Given the description of an element on the screen output the (x, y) to click on. 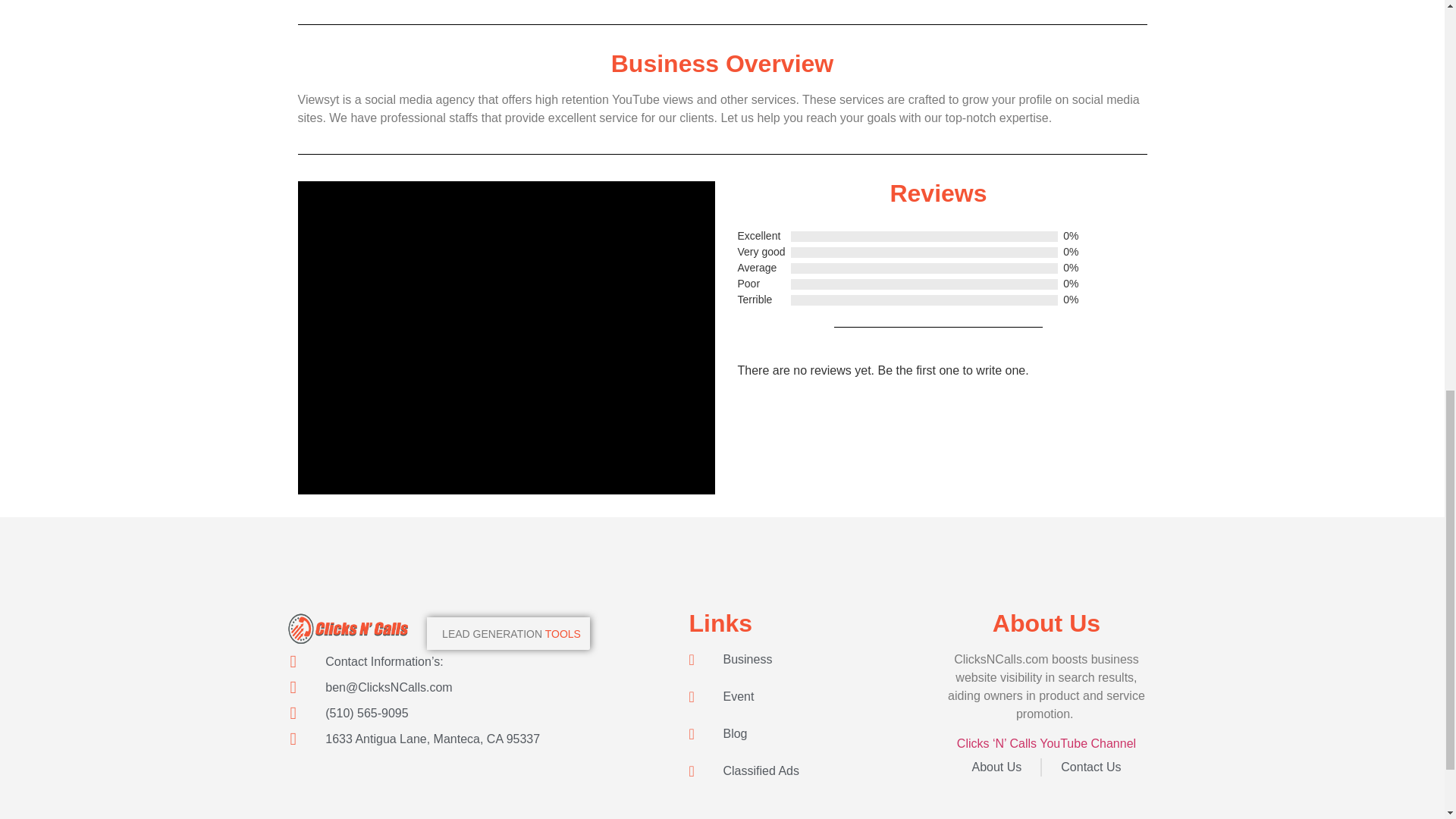
Event (812, 696)
Contact Us (1091, 767)
Blog (812, 733)
Classified Ads (812, 771)
About Us (996, 767)
Business (812, 659)
